Given the description of an element on the screen output the (x, y) to click on. 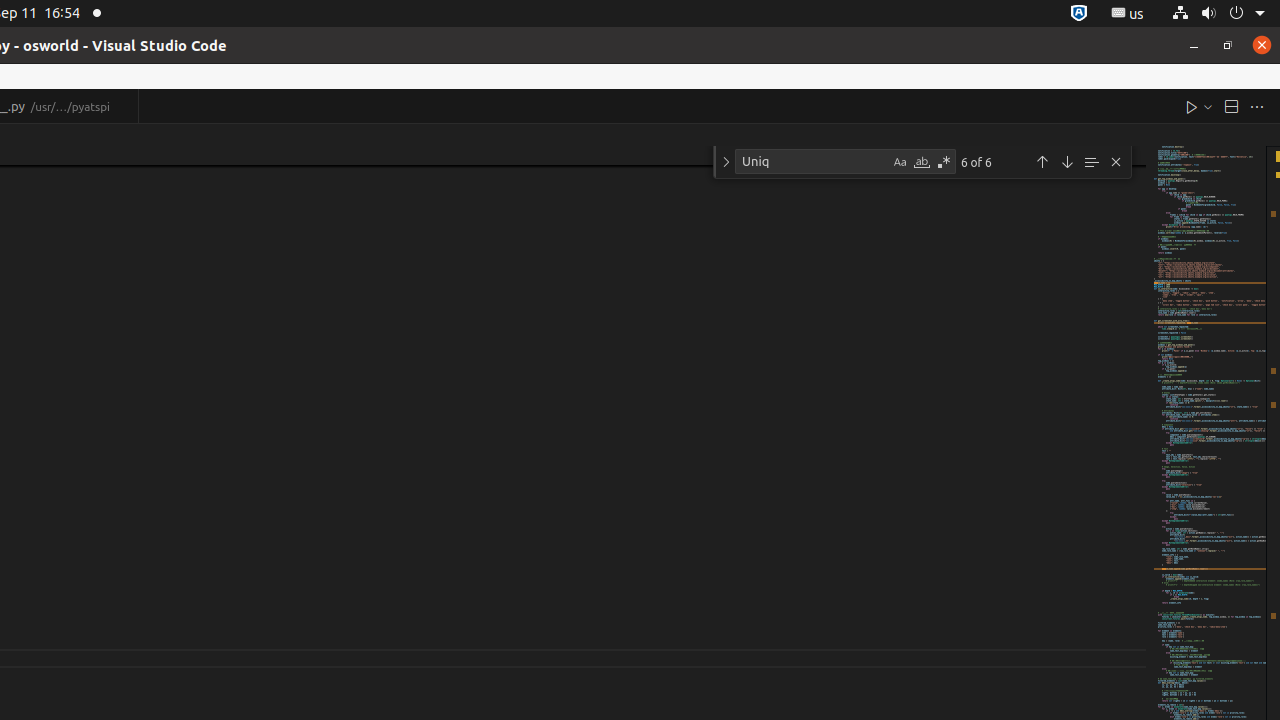
Close (Escape) Element type: push-button (1116, 162)
